Given the description of an element on the screen output the (x, y) to click on. 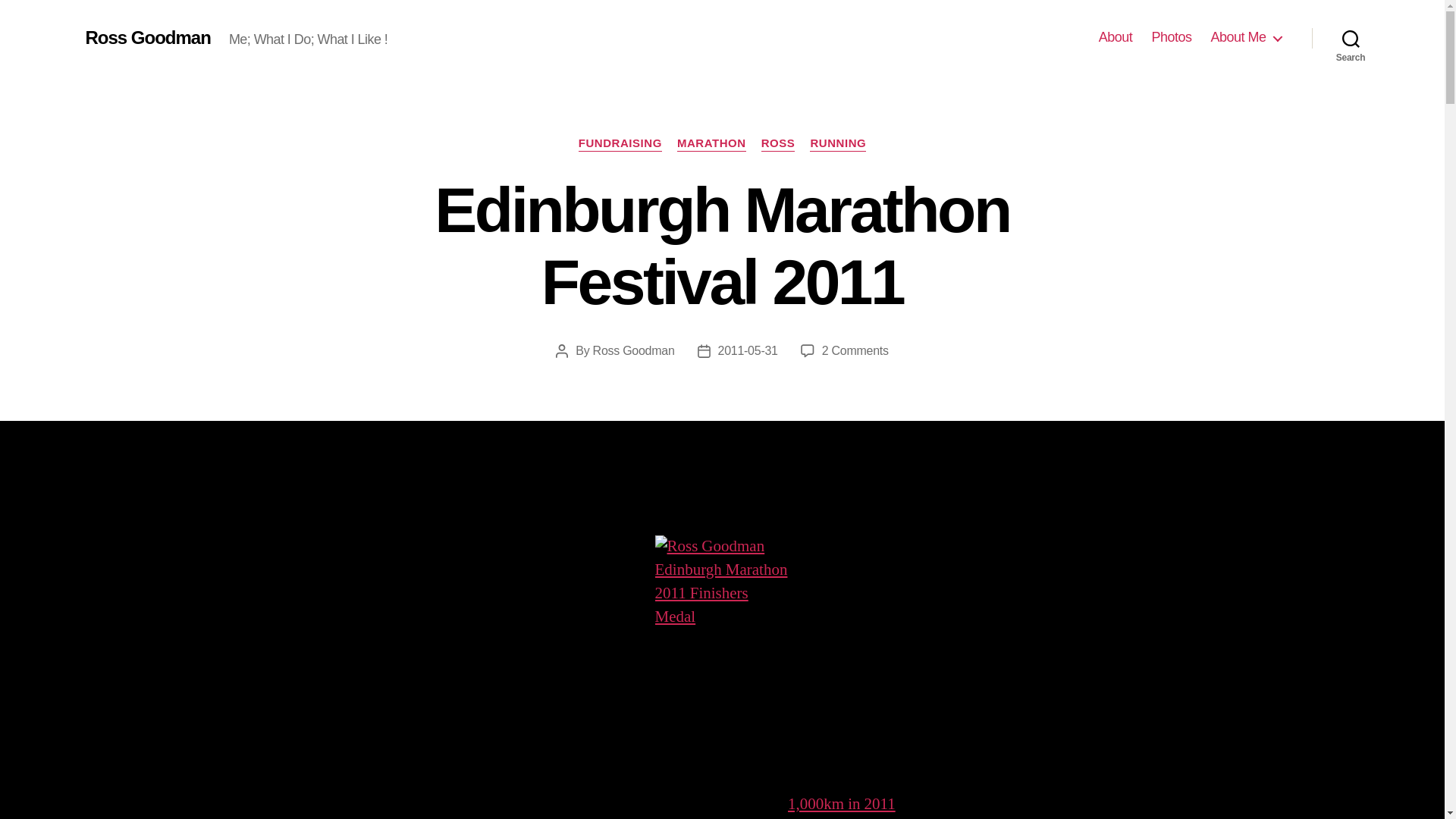
FUNDRAISING (620, 143)
Just Giving 1000km 2011 (841, 803)
Photos (1171, 37)
Search (1350, 37)
About (1115, 37)
About Me (1245, 37)
ROSS (777, 143)
Ross Goodman (633, 350)
1,000km in 2011 (841, 803)
2011-05-31 (747, 350)
Ross Goodman (146, 37)
RUNNING (837, 143)
MARATHON (711, 143)
